Given the description of an element on the screen output the (x, y) to click on. 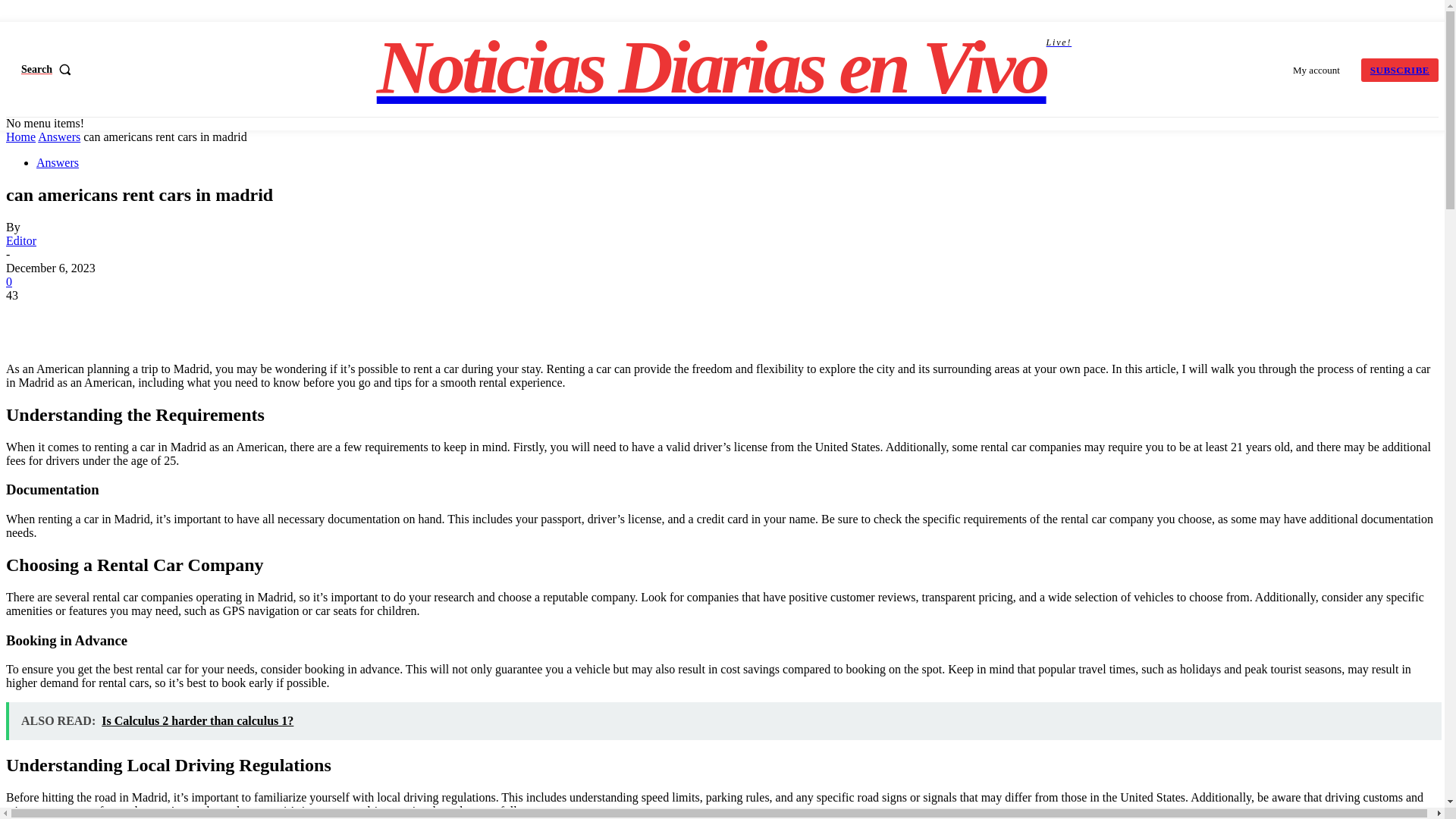
ALSO READ:  Is Calculus 2 harder than calculus 1? (723, 720)
Answers (58, 136)
SUBSCRIBE (1399, 69)
Editor (20, 240)
Subscribe (1399, 69)
Home (19, 136)
Search (49, 69)
View all posts in Answers (723, 67)
Answers (58, 136)
